Given the description of an element on the screen output the (x, y) to click on. 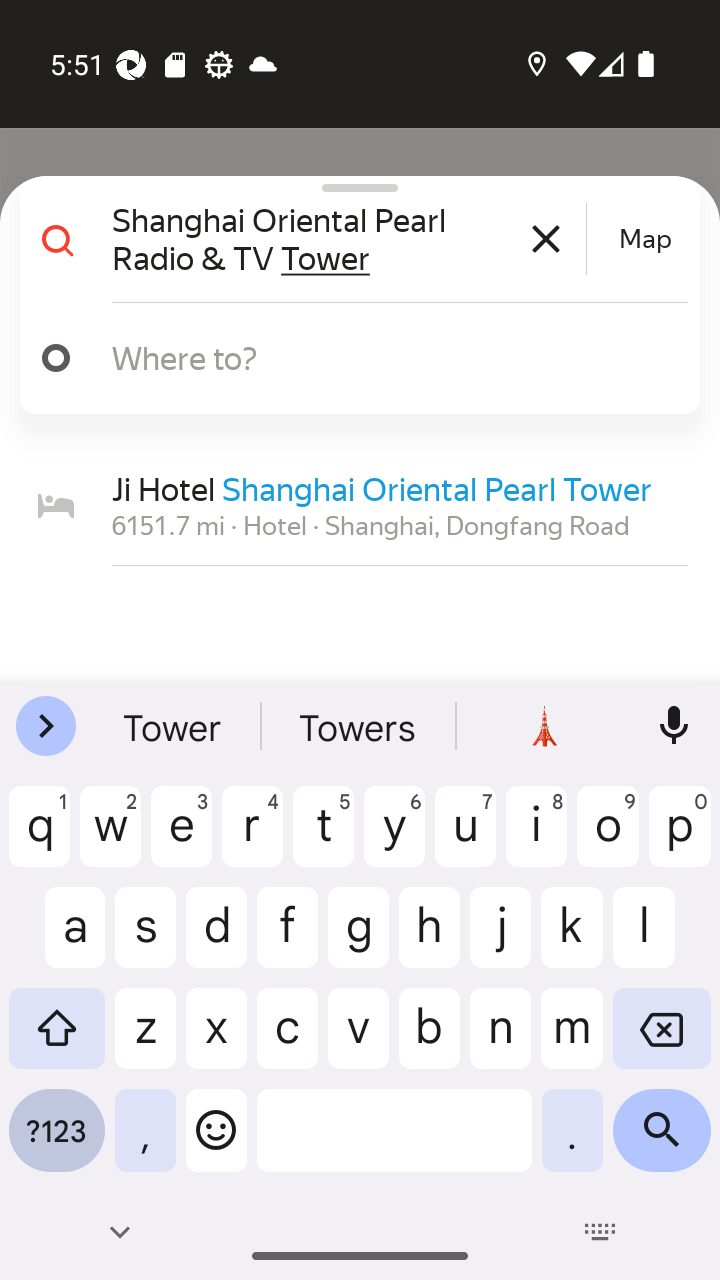
Map (645, 239)
Clear text box (546, 238)
Shanghai Oriental Pearl Radio & TV Tower (346, 238)
Where to? (352, 357)
Where to? (390, 357)
